Given the description of an element on the screen output the (x, y) to click on. 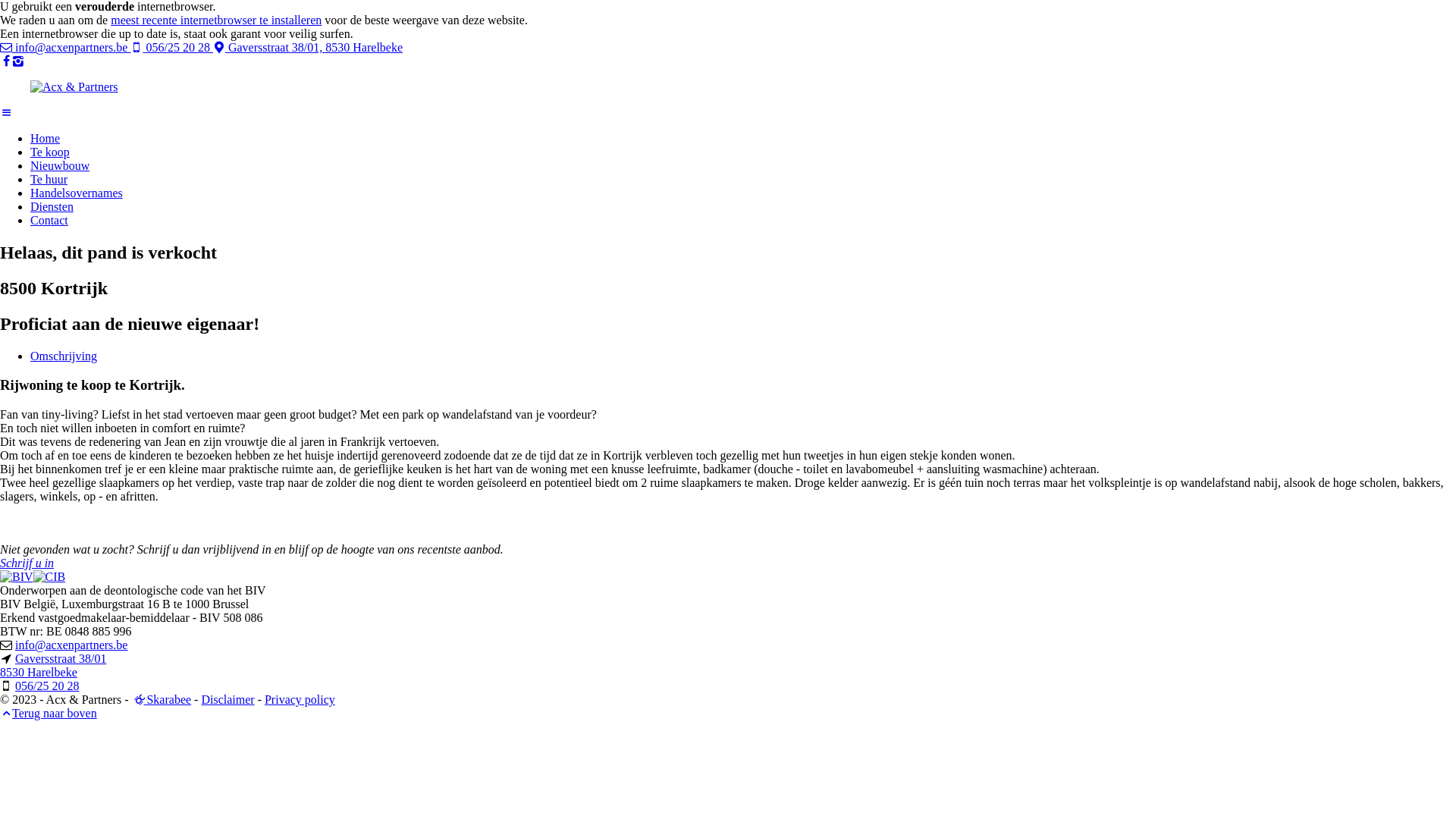
Schrijf u in Element type: text (26, 562)
Omschrijving Element type: text (63, 355)
info@acxenpartners.be Element type: text (71, 644)
Instagram Element type: hover (18, 60)
Diensten Element type: text (51, 206)
Terug naar boven Element type: text (48, 712)
Contact Element type: text (49, 219)
Gaversstraat 38/01, 8530 Harelbeke Element type: text (307, 46)
056/25 20 28 Element type: text (171, 46)
meest recente internetbrowser te installeren Element type: text (215, 19)
Skarabee Element type: hover (137, 699)
BIV Element type: hover (16, 576)
Gaversstraat 38/01
8530 Harelbeke Element type: text (53, 665)
Facebook Element type: hover (6, 60)
Handelsovernames Element type: text (76, 192)
056/25 20 28 Element type: text (46, 685)
Nieuwbouw Element type: text (59, 165)
Privacy policy Element type: text (299, 699)
Home Element type: text (44, 137)
info@acxenpartners.be Element type: text (65, 46)
Skarabee Element type: text (161, 699)
CIB Element type: hover (49, 576)
Disclaimer Element type: text (227, 699)
Acx & Partners Element type: hover (74, 86)
Te huur Element type: text (48, 178)
Te koop Element type: text (49, 151)
Menu Element type: hover (6, 112)
